Given the description of an element on the screen output the (x, y) to click on. 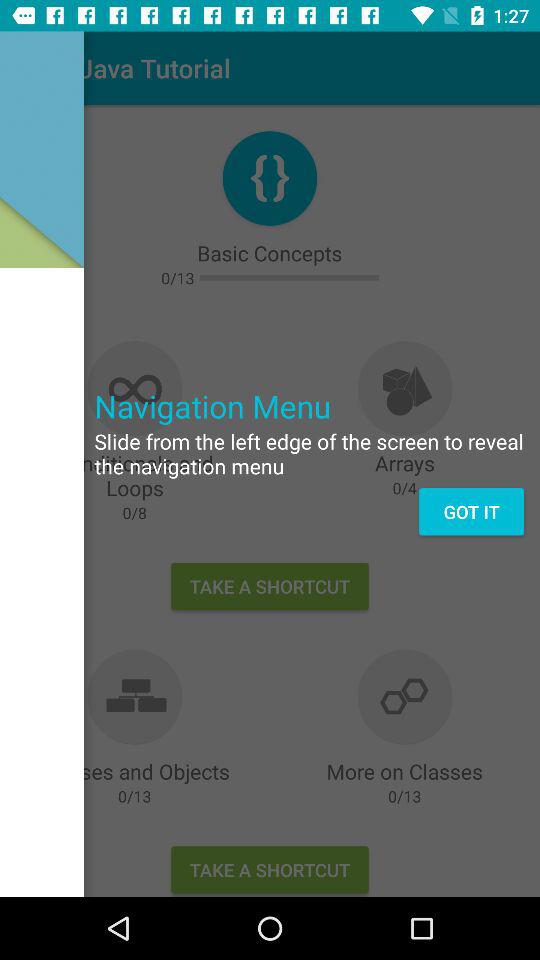
tap icon below slide from the (471, 511)
